Given the description of an element on the screen output the (x, y) to click on. 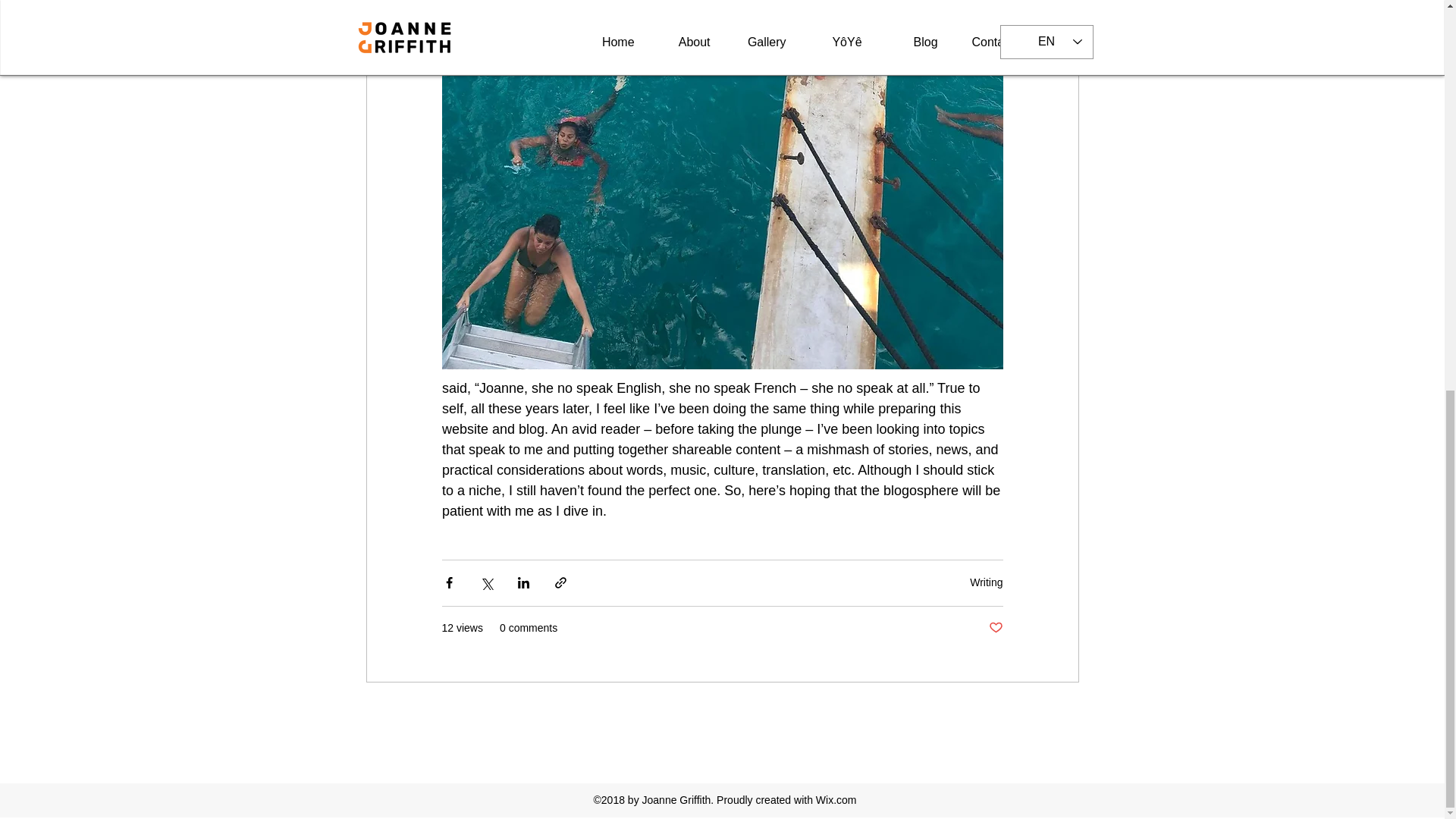
Post not marked as liked (995, 627)
Writing (986, 582)
